Given the description of an element on the screen output the (x, y) to click on. 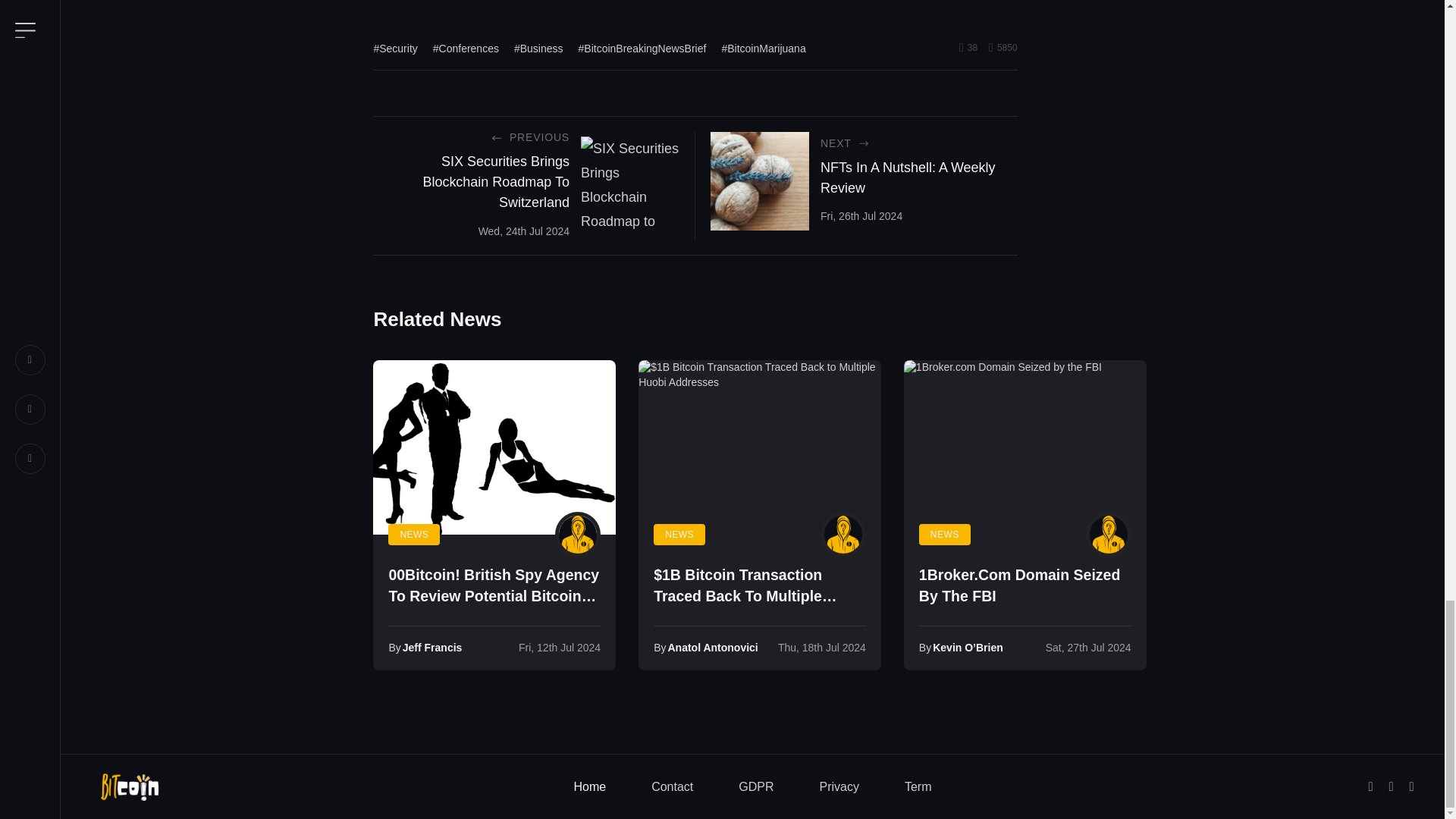
Mon, 8th Jul 2024 (558, 647)
Posts by Jeff Francis (433, 647)
Fri, 26th Jul 2024 (861, 215)
Mon, 15th Jul 2024 (821, 647)
Posts by Jeff Francis (576, 534)
Posts by Anatol Antonovici (711, 647)
Posts by Anatol Antonovici (843, 534)
Wed, 24th Jul 2024 (524, 231)
